Given the description of an element on the screen output the (x, y) to click on. 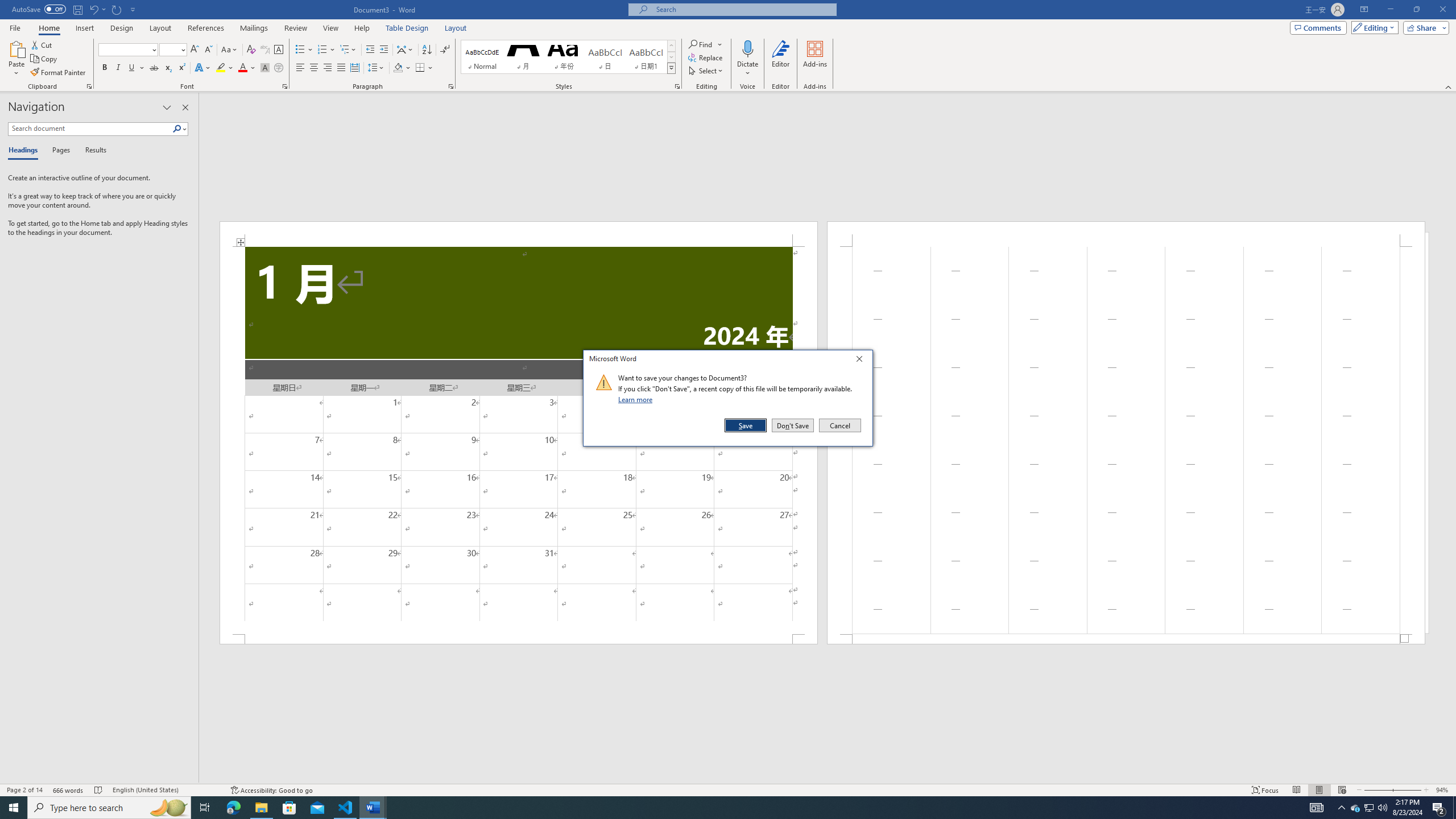
Task View (204, 807)
Pages (59, 150)
Notification Chevron (1341, 807)
Borders (424, 67)
Character Shading (264, 67)
Font Size (172, 49)
Bullets (304, 49)
Task Pane Options (167, 107)
Paste (16, 48)
Visual Studio Code - 1 running window (345, 807)
Change Case (229, 49)
Comments (1318, 27)
Copy (45, 58)
